Given the description of an element on the screen output the (x, y) to click on. 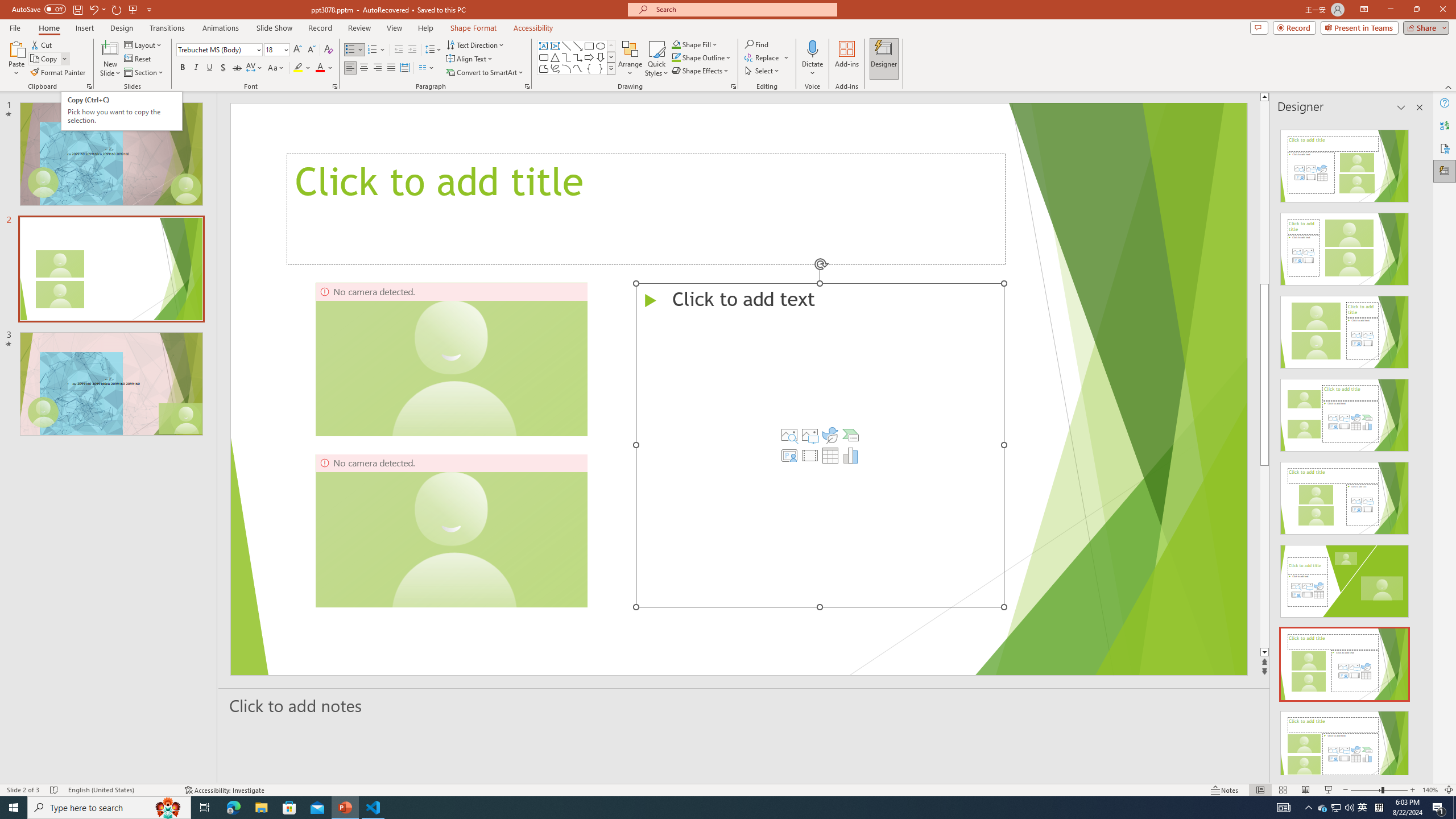
Camera 3, No camera detected. (838, 530)
Shape Outline Green, Accent 1 (675, 56)
